Given the description of an element on the screen output the (x, y) to click on. 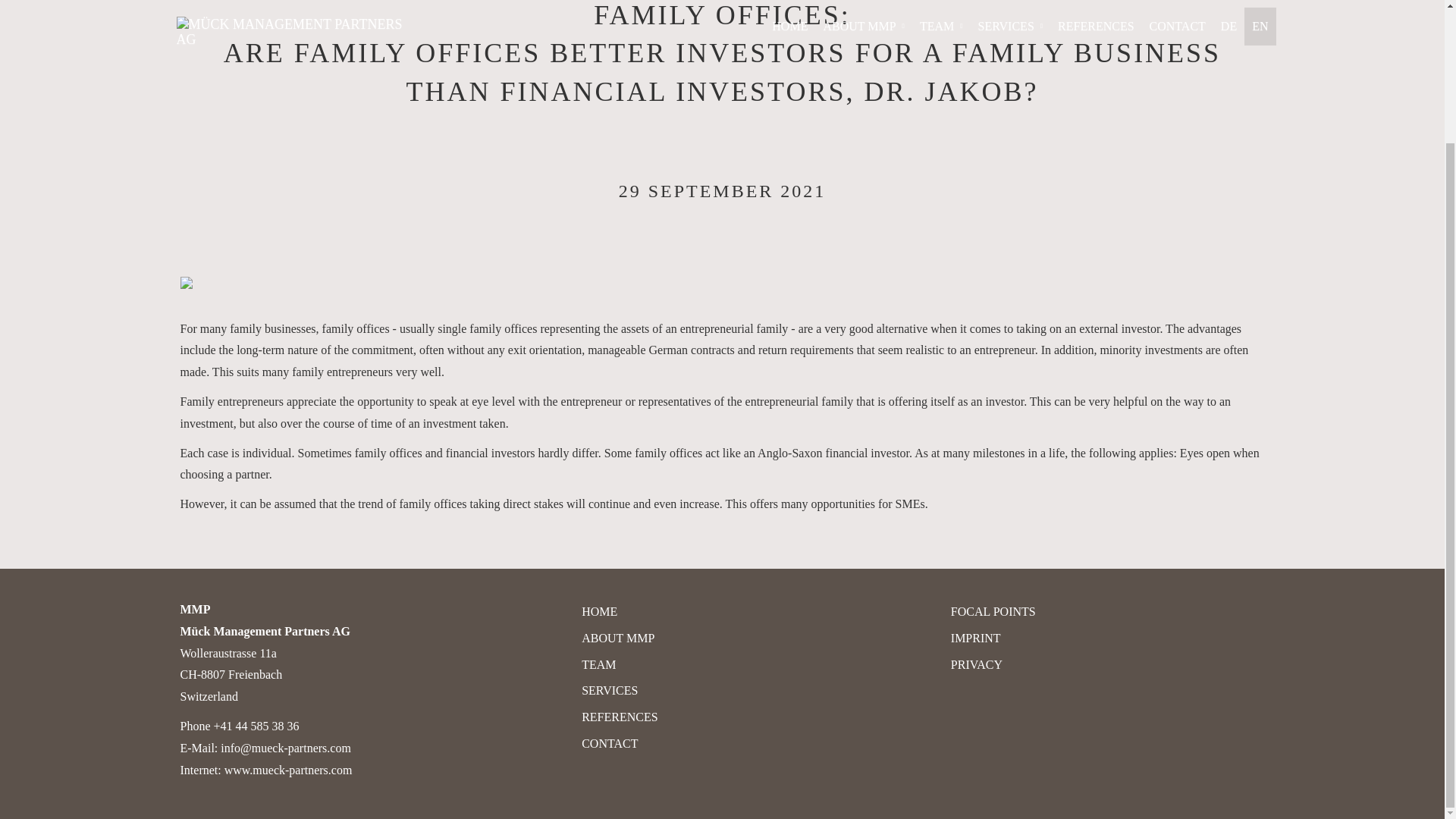
ABOUT MMP (616, 637)
SERVICES (608, 689)
REFERENCES (619, 716)
www.mueck-partners.com (288, 769)
TEAM (597, 664)
HOME (598, 611)
